Given the description of an element on the screen output the (x, y) to click on. 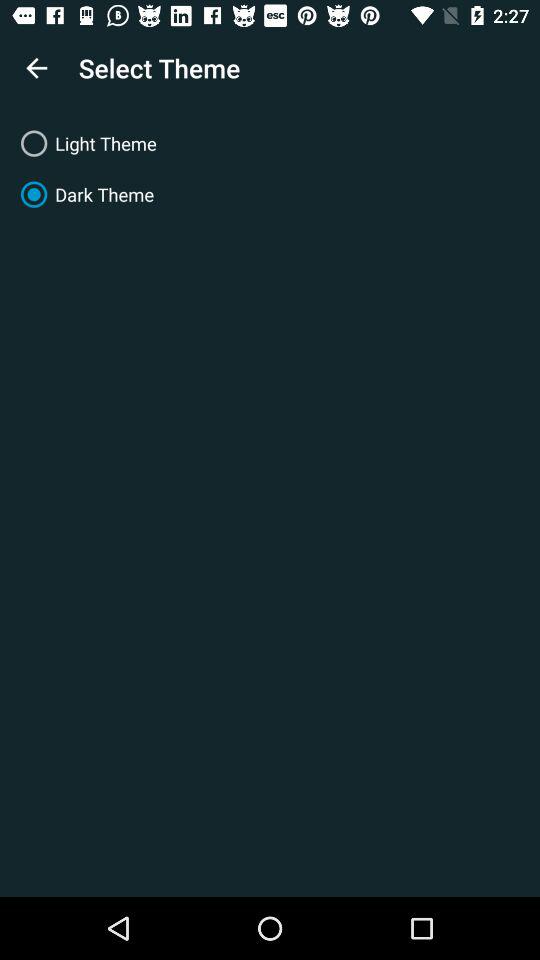
press icon above dark theme icon (269, 143)
